Given the description of an element on the screen output the (x, y) to click on. 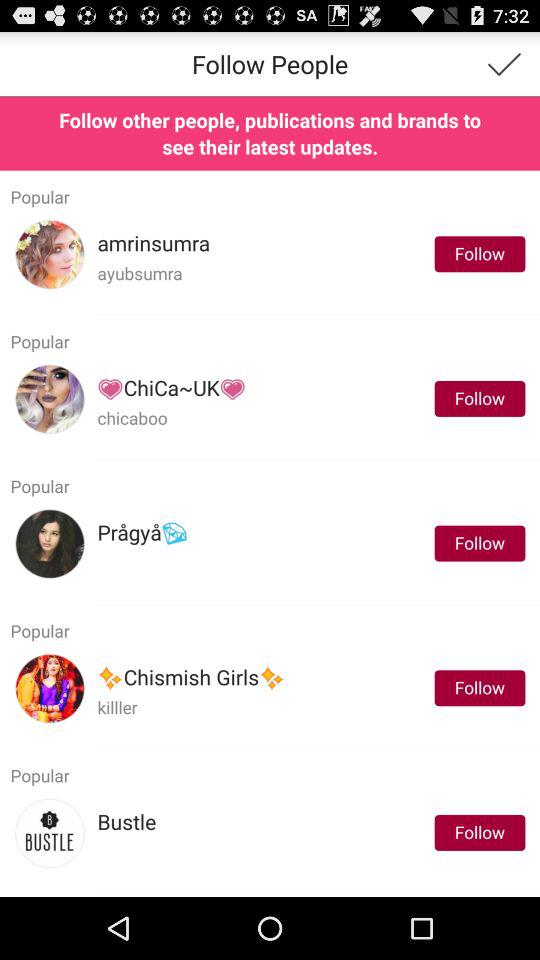
select the item below the popular (153, 243)
